Given the description of an element on the screen output the (x, y) to click on. 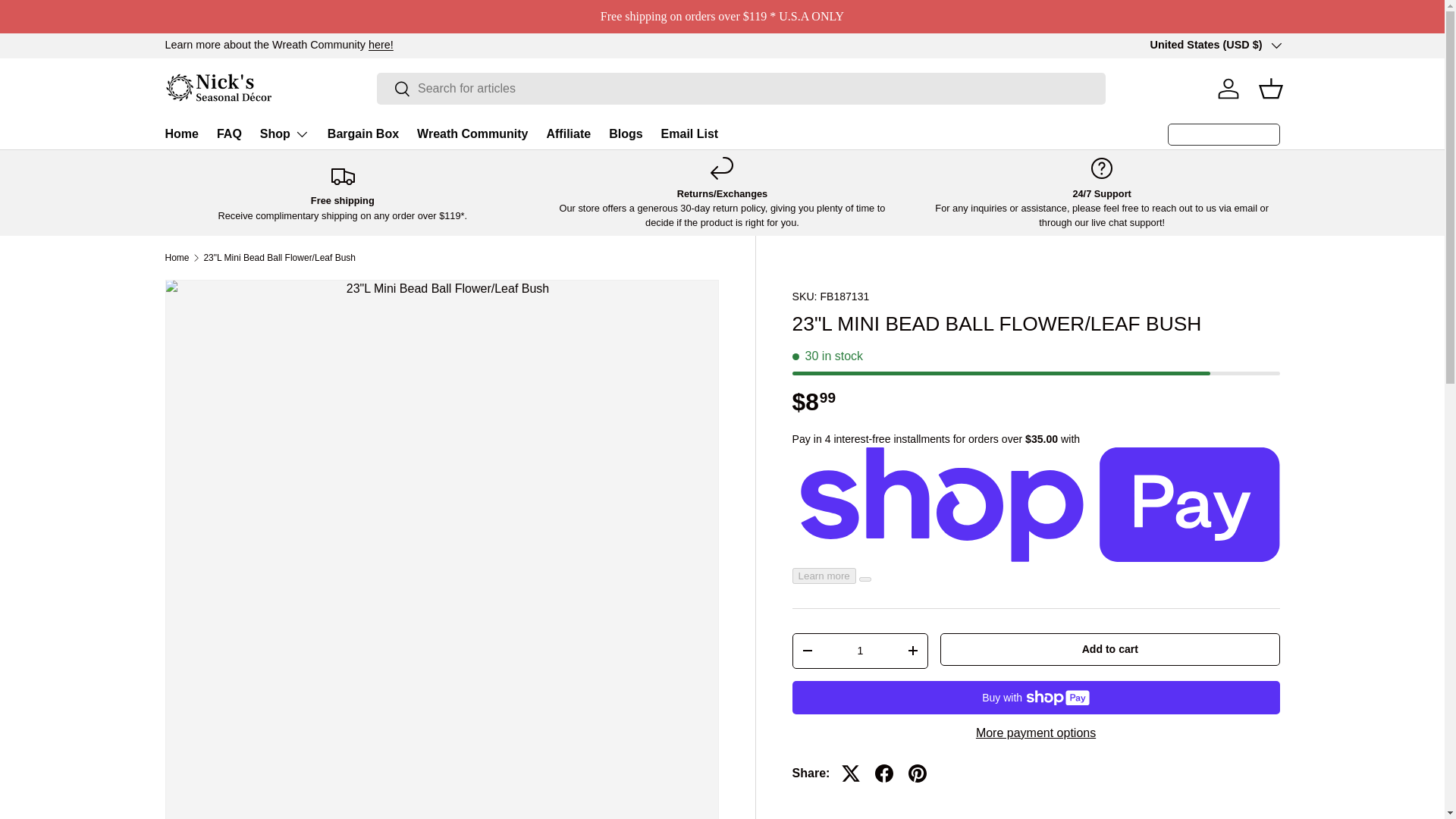
Home (181, 133)
here! (380, 44)
Log in (1227, 88)
Skip to content (68, 21)
1 (860, 650)
Pin on Pinterest (917, 773)
Shop (284, 133)
Basket (1270, 88)
Tweet on X (850, 773)
Search (393, 89)
